Given the description of an element on the screen output the (x, y) to click on. 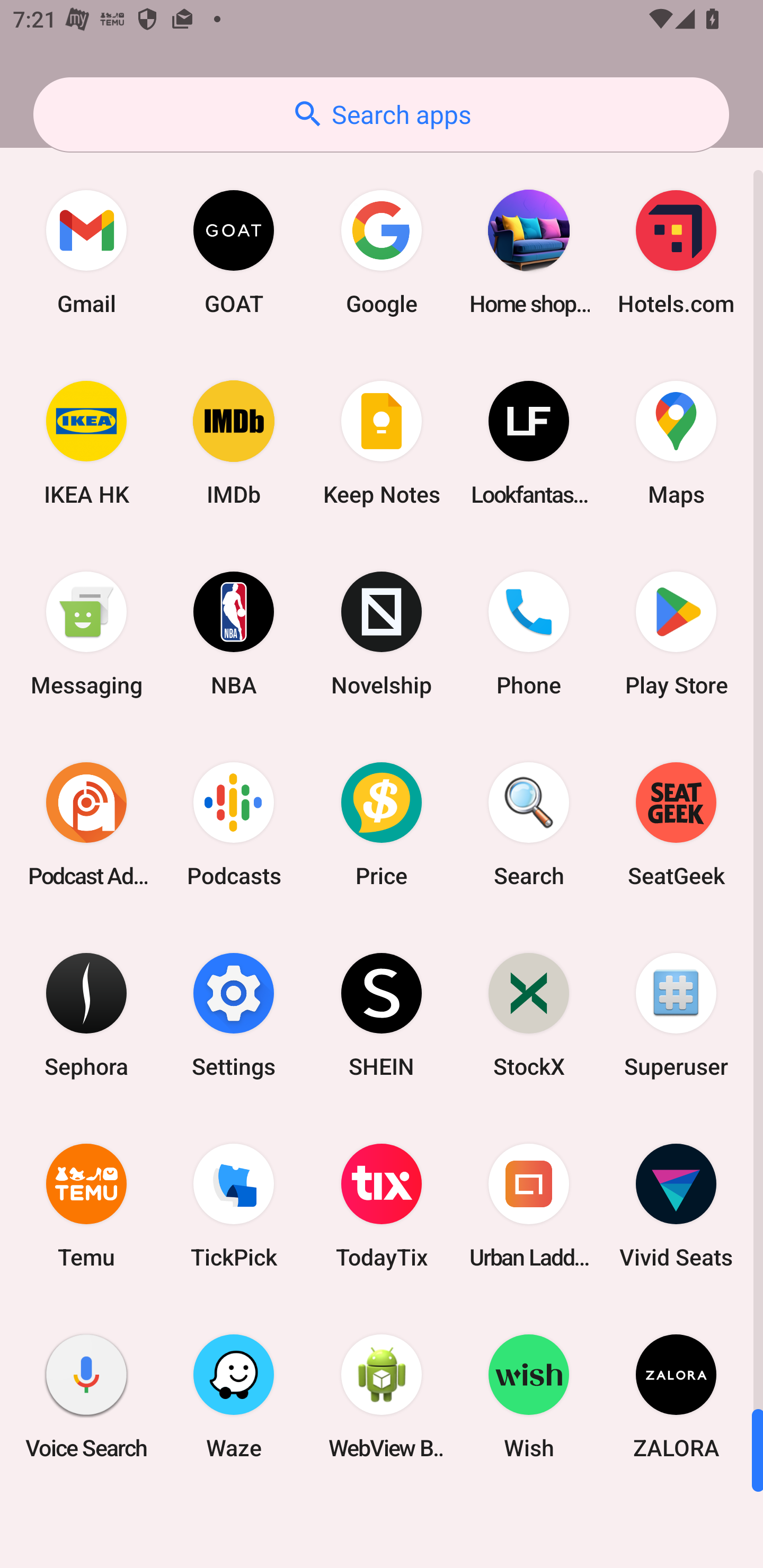
  Search apps (381, 114)
Gmail (86, 252)
GOAT (233, 252)
Google (381, 252)
Home shopping (528, 252)
Hotels.com (676, 252)
IKEA HK (86, 442)
IMDb (233, 442)
Keep Notes (381, 442)
Lookfantastic (528, 442)
Maps (676, 442)
Messaging (86, 633)
NBA (233, 633)
Novelship (381, 633)
Phone (528, 633)
Play Store (676, 633)
Podcast Addict (86, 823)
Podcasts (233, 823)
Price (381, 823)
Search (528, 823)
SeatGeek (676, 823)
Sephora (86, 1014)
Settings (233, 1014)
SHEIN (381, 1014)
StockX (528, 1014)
Superuser (676, 1014)
Temu (86, 1205)
TickPick (233, 1205)
TodayTix (381, 1205)
Urban Ladder (528, 1205)
Vivid Seats (676, 1205)
Voice Search (86, 1396)
Waze (233, 1396)
WebView Browser Tester (381, 1396)
Wish (528, 1396)
ZALORA (676, 1396)
